Given the description of an element on the screen output the (x, y) to click on. 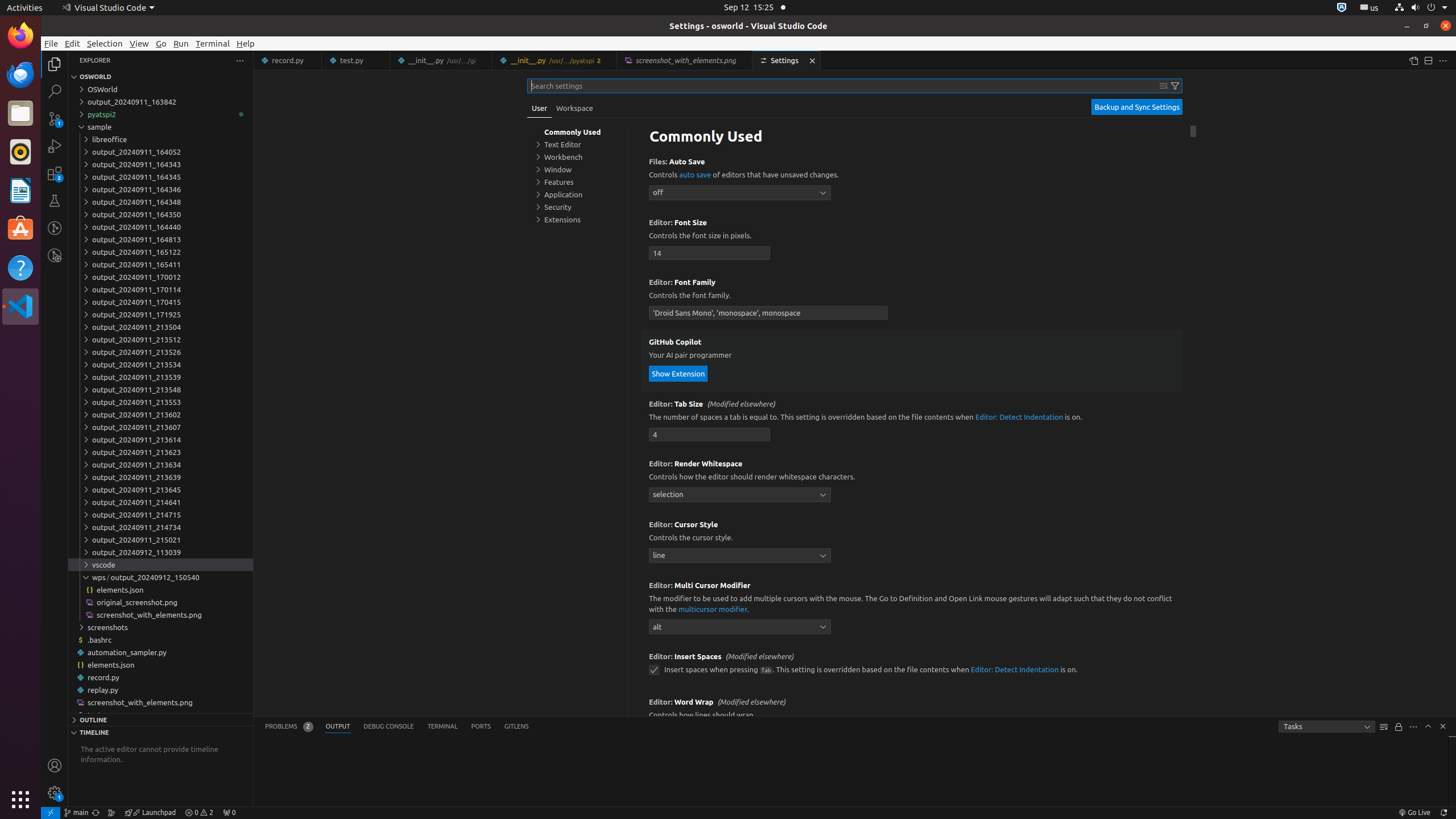
output_20240911_165411 Element type: tree-item (160, 264)
Backup and Sync Settings Element type: push-button (1136, 106)
Terminal (Ctrl+`) Element type: page-tab (442, 726)
output_20240911_163842 Element type: tree-item (160, 101)
output_20240911_213623 Element type: tree-item (160, 451)
